Given the description of an element on the screen output the (x, y) to click on. 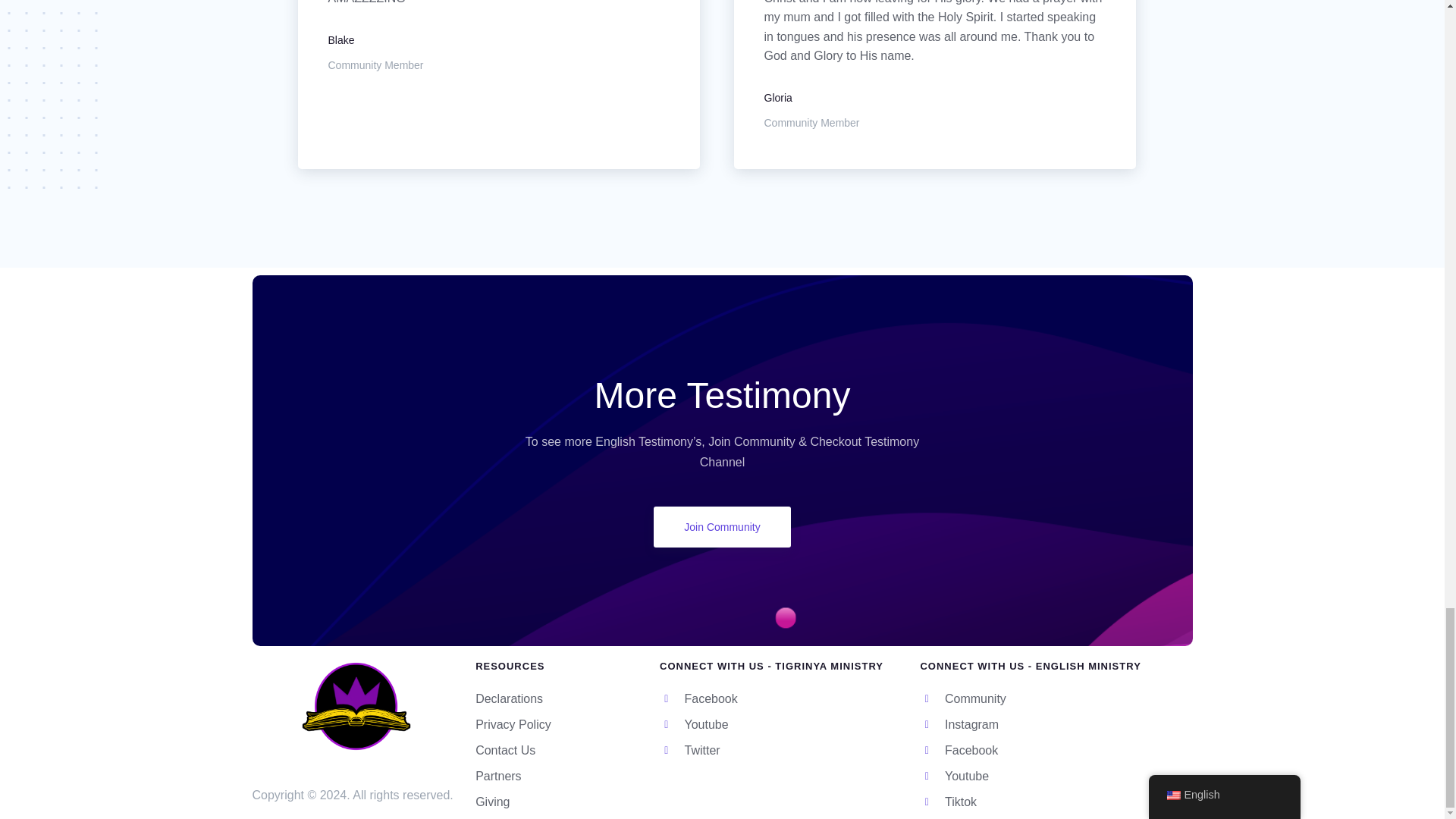
Tiktok (1056, 802)
Declarations (560, 699)
Contact Us (560, 751)
Giving (560, 802)
Community (1056, 699)
Youtube (1056, 776)
Join Community (721, 526)
Twitter (781, 751)
Privacy Policy (560, 724)
Facebook (1056, 751)
